Given the description of an element on the screen output the (x, y) to click on. 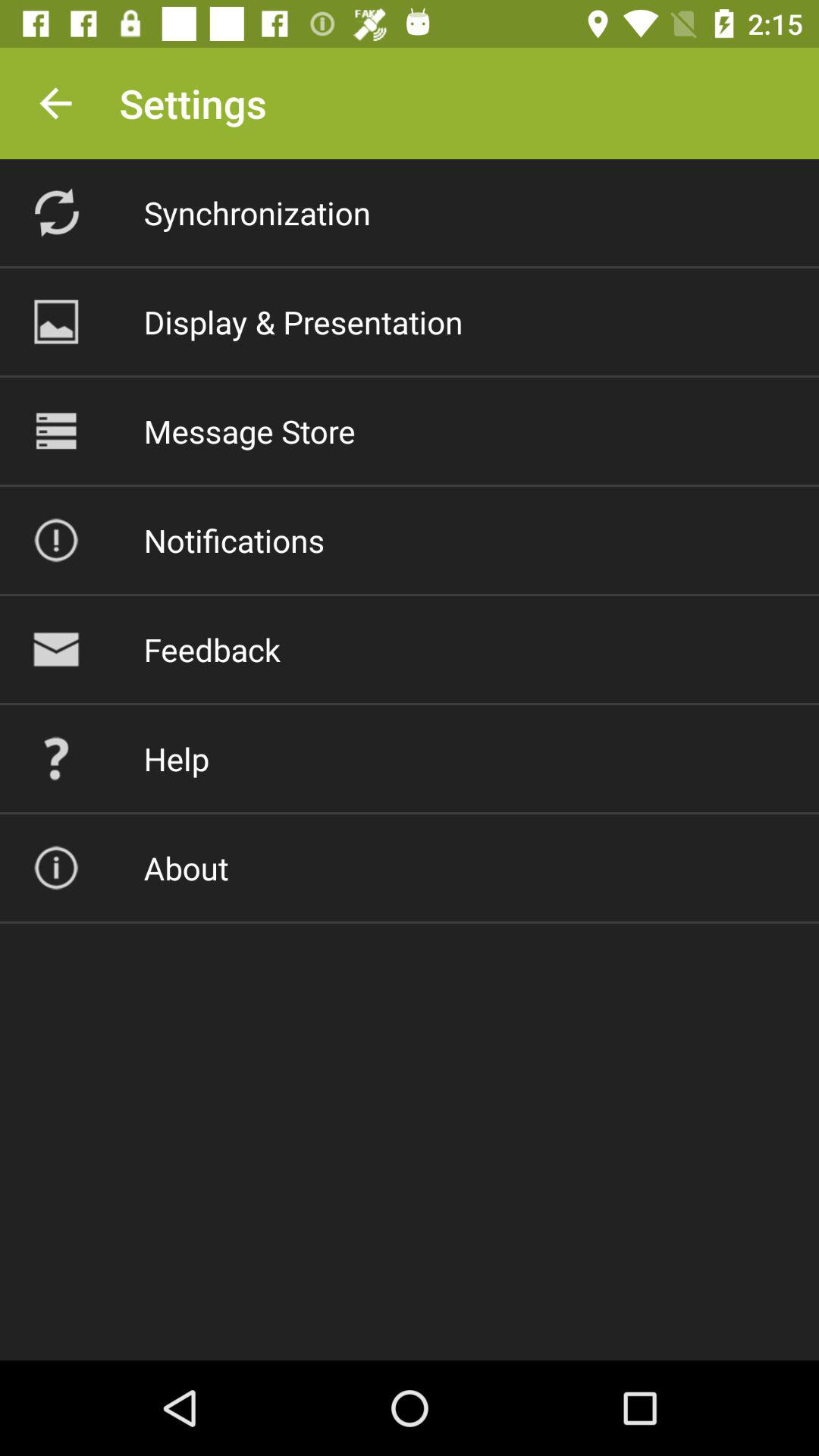
scroll to message store icon (249, 430)
